Given the description of an element on the screen output the (x, y) to click on. 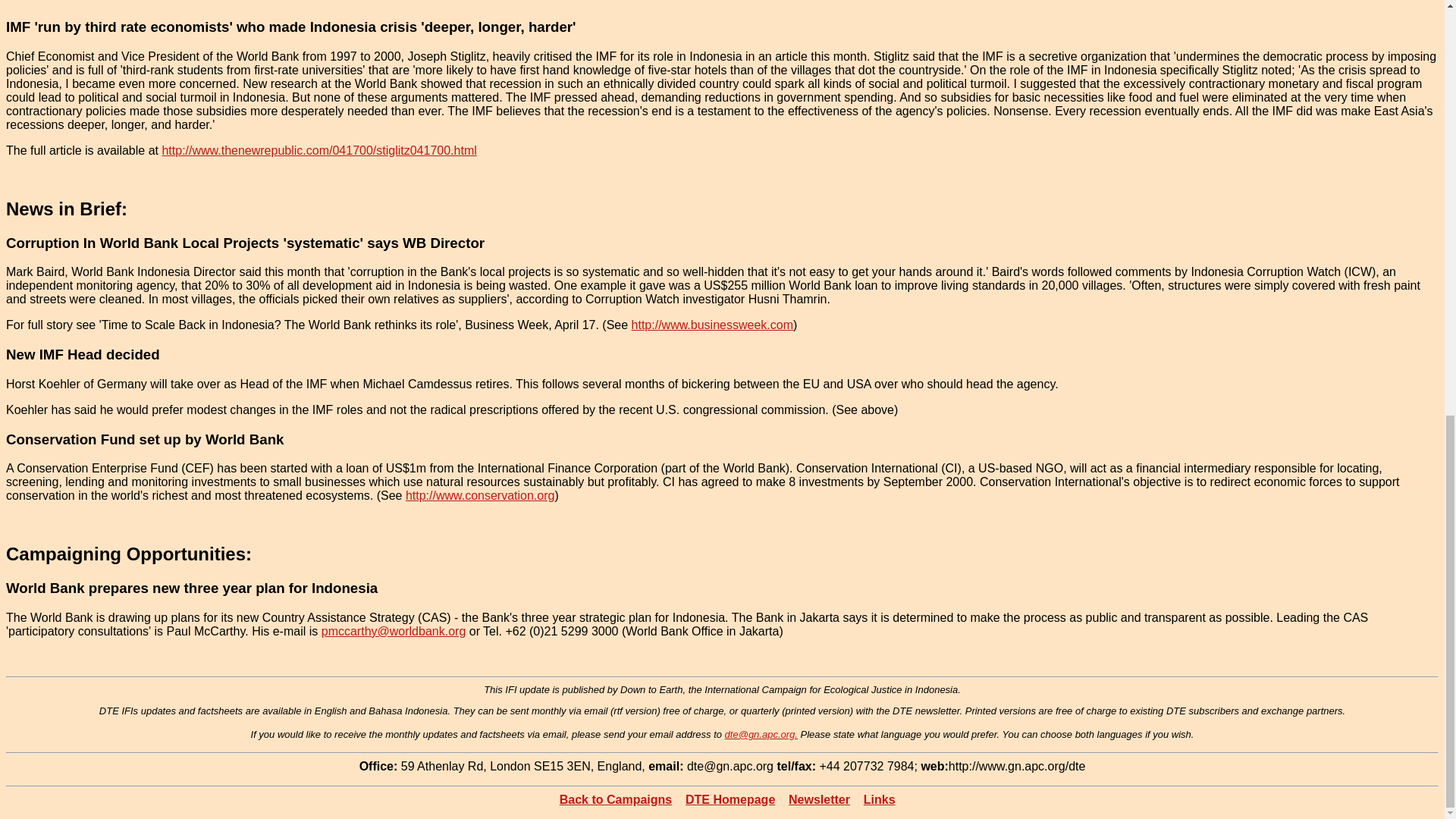
DTE Homepage (729, 799)
Back to Campaigns (615, 799)
Links (879, 799)
Newsletter (819, 799)
